Given the description of an element on the screen output the (x, y) to click on. 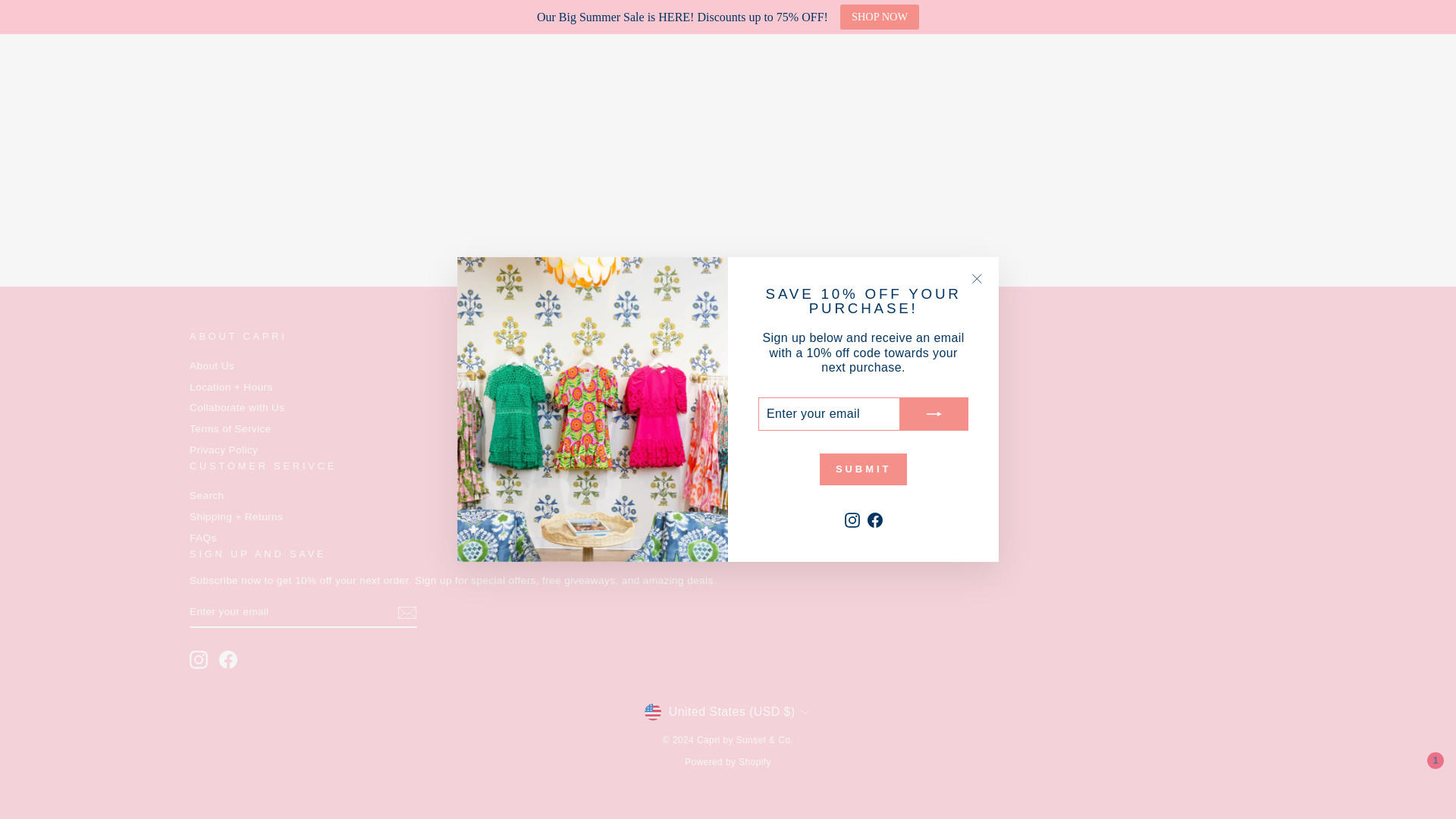
Shopify online store chat (1416, 333)
icon-email (406, 612)
instagram (198, 659)
